Given the description of an element on the screen output the (x, y) to click on. 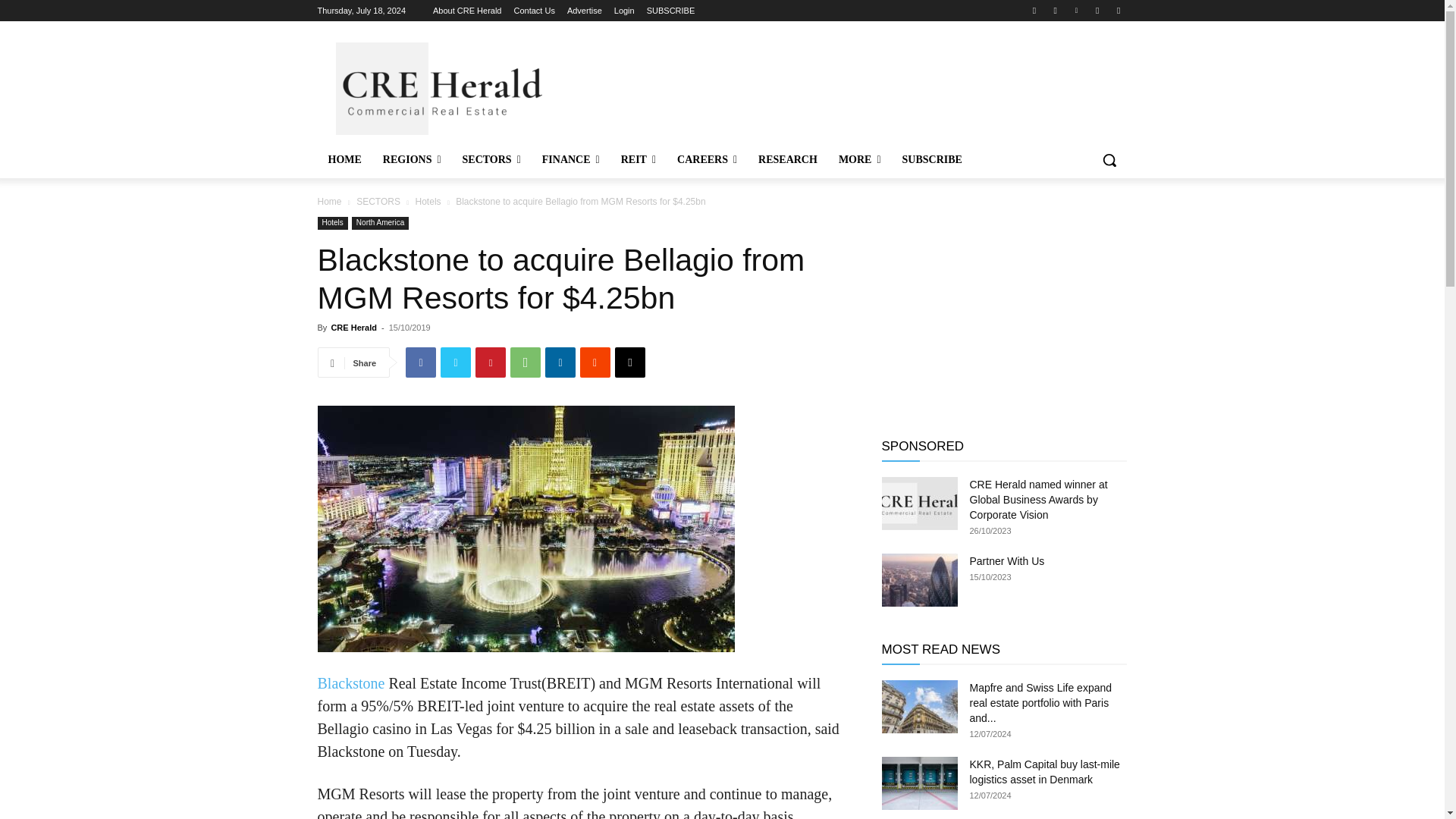
About CRE Herald (467, 10)
Linkedin (1075, 9)
Instagram (1055, 9)
Login (624, 10)
RSS (1097, 9)
HOME (344, 159)
Twitter (1117, 9)
Contact Us (533, 10)
SUBSCRIBE (670, 10)
Advertisement (836, 86)
Advertise (584, 10)
Facebook (1034, 9)
REGIONS (411, 159)
